Given the description of an element on the screen output the (x, y) to click on. 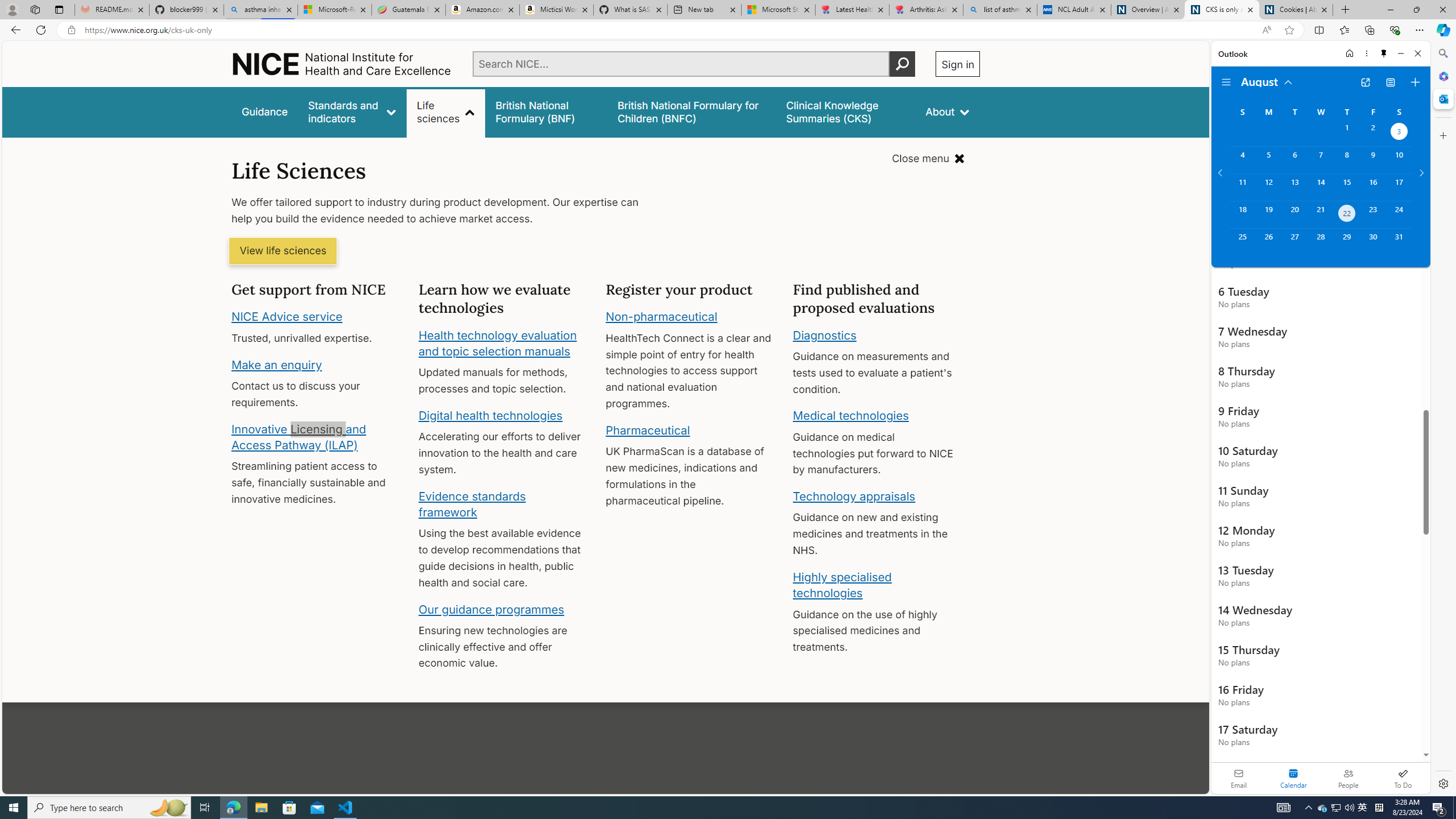
Saturday, August 31, 2024.  (1399, 241)
Monday, August 5, 2024.  (1268, 159)
Guidance (264, 111)
Email (1238, 777)
Perform search (902, 63)
Thursday, August 22, 2024. Today.  (1346, 214)
Open in new tab (1365, 82)
Folder navigation (1225, 82)
Saturday, August 17, 2024.  (1399, 186)
Digital health technologies (490, 414)
